Given the description of an element on the screen output the (x, y) to click on. 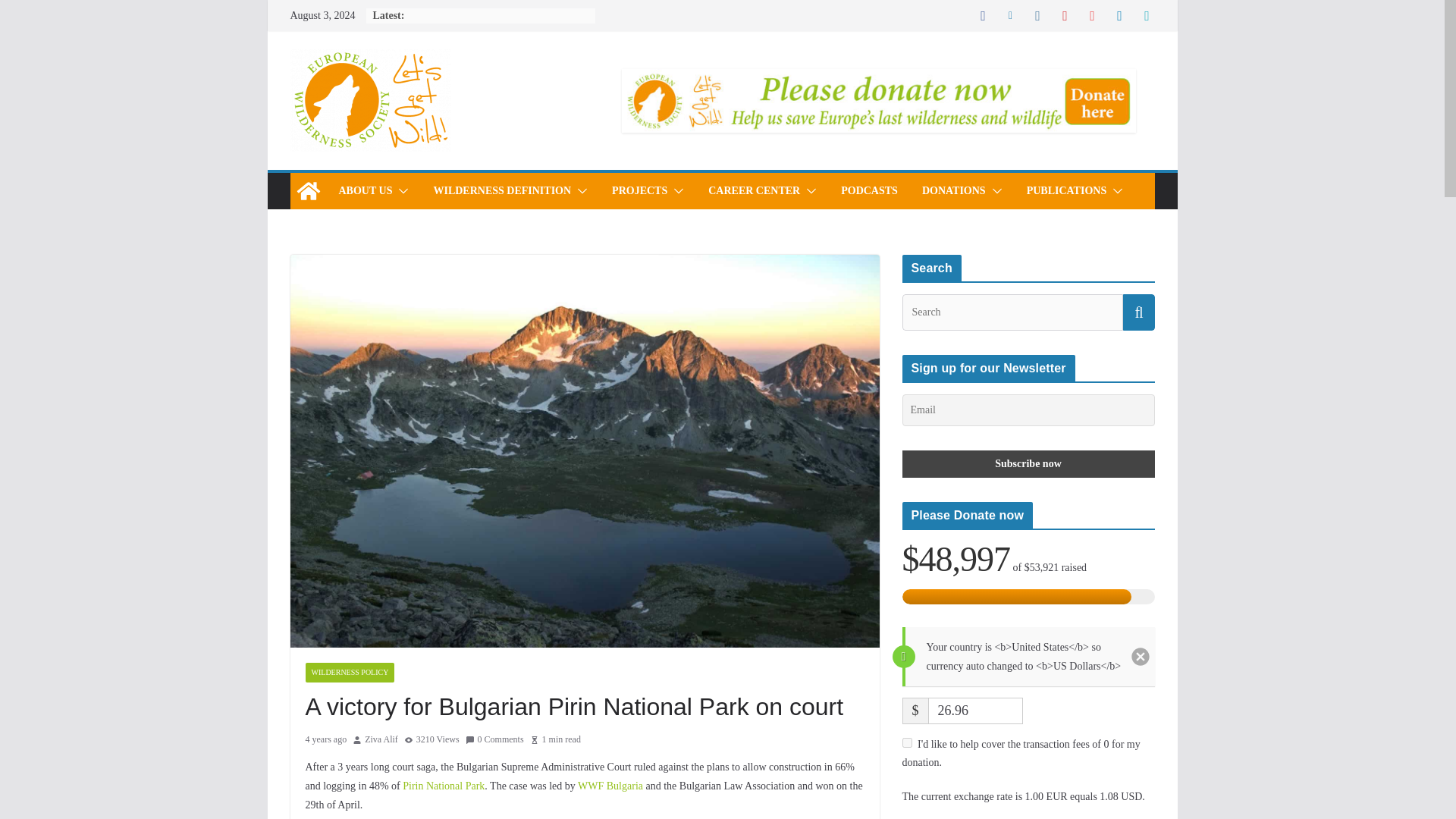
Ziva Alif (381, 740)
ABOUT US (364, 190)
1 (907, 742)
European Wilderness Society (307, 190)
26.96 (975, 710)
Subscribe now (1028, 463)
